Given the description of an element on the screen output the (x, y) to click on. 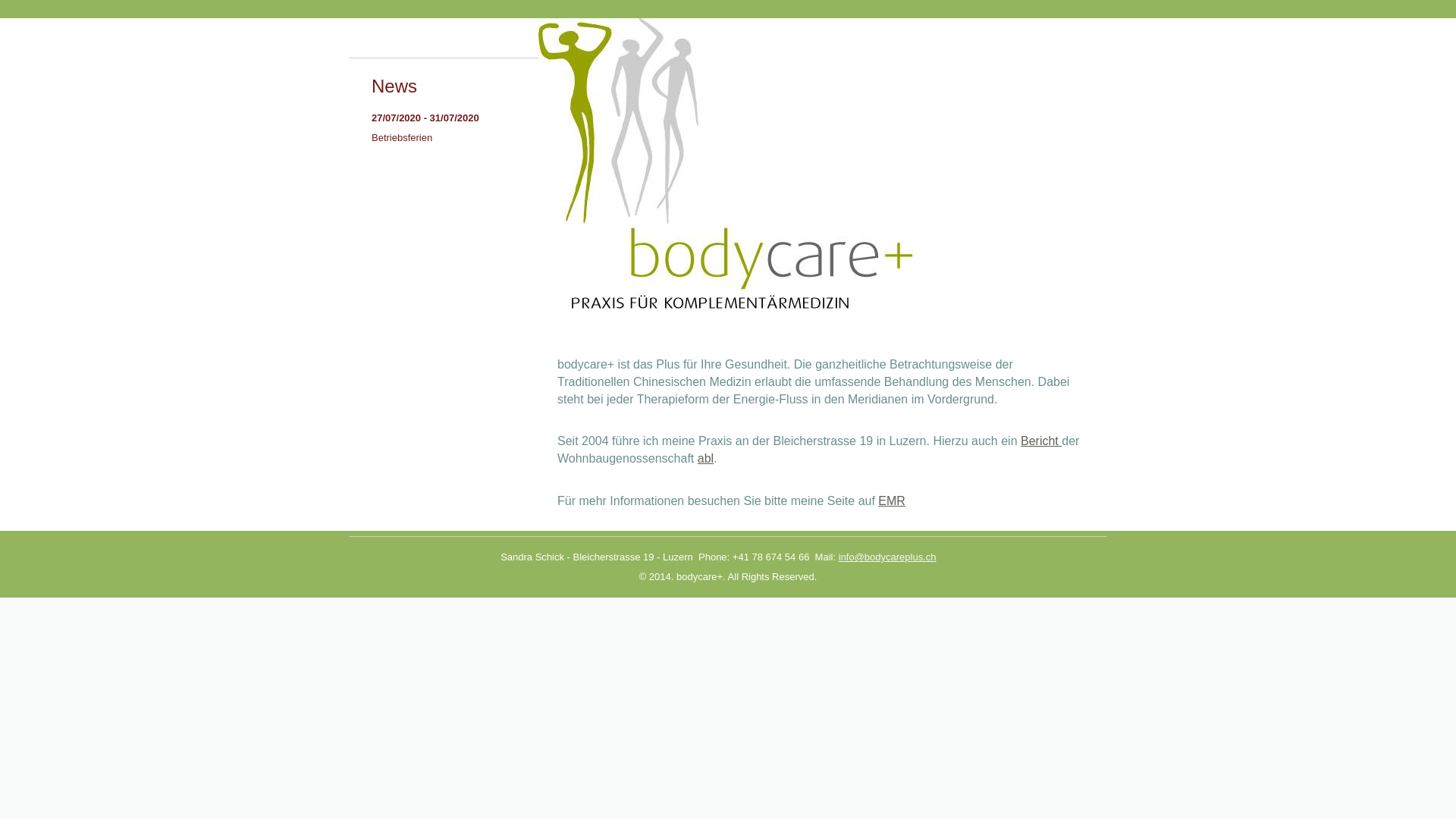
abl Element type: text (705, 457)
EMR Element type: text (891, 500)
Bericht Element type: text (1040, 440)
info@bodycareplus.ch Element type: text (887, 556)
